Given the description of an element on the screen output the (x, y) to click on. 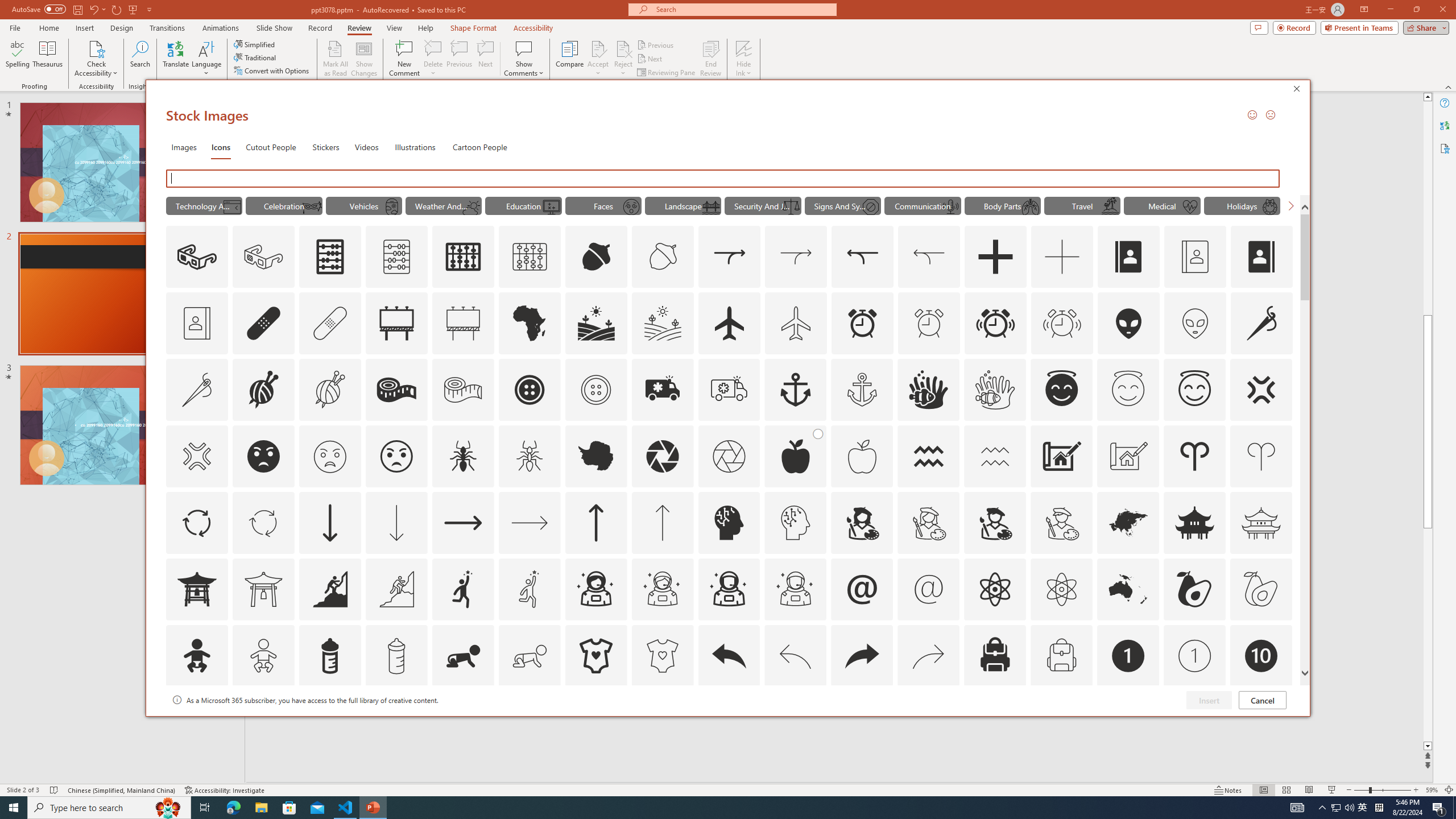
AutomationID: Icons_Aperture_M (729, 455)
AutomationID: Icons_Badge8 (1061, 721)
AutomationID: Icons_Badge2 (263, 721)
AutomationID: Icons_Aperture (662, 455)
AutomationID: Icons_DizzyFace_M (631, 206)
AutomationID: Icons_Badge3_M (462, 721)
AutomationID: Icons_Lungs_M (1030, 206)
New Comment (403, 58)
AutomationID: Icons_Acquisition_LTR (729, 256)
